Given the description of an element on the screen output the (x, y) to click on. 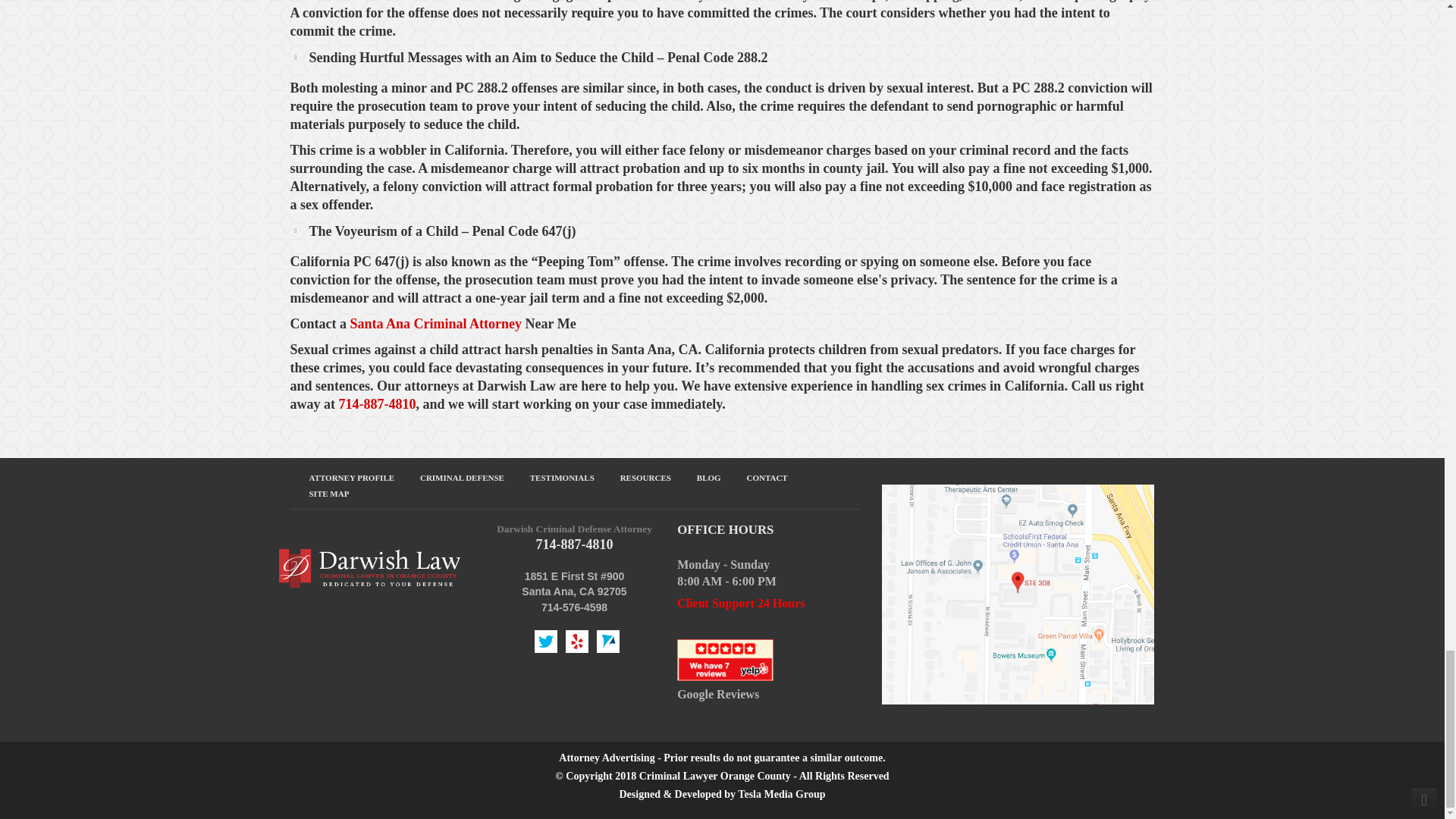
yelp (725, 658)
Map Darvish Law (1017, 593)
